Given the description of an element on the screen output the (x, y) to click on. 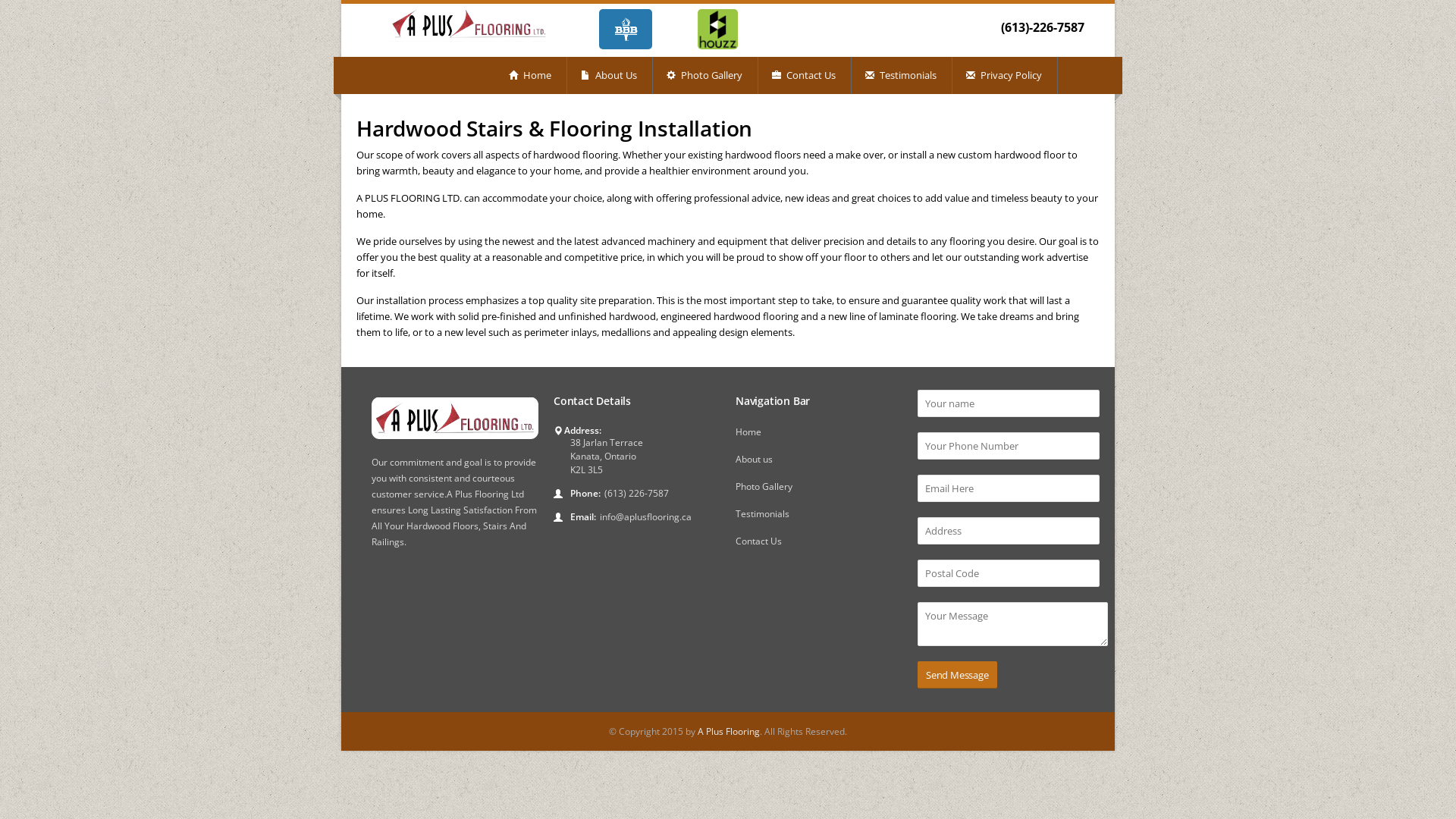
Testimonials Element type: text (901, 75)
About us Element type: text (753, 458)
Send Message Element type: text (957, 674)
Stairs Element type: text (495, 525)
Home Element type: text (748, 431)
Contact Us Element type: text (758, 540)
A Plus Flooring Element type: text (728, 730)
Privacy Policy Element type: text (1004, 75)
Photo Gallery Element type: text (763, 486)
Photo Gallery Element type: text (705, 75)
Home Element type: text (531, 75)
About Us Element type: text (609, 75)
Contact Us Element type: text (804, 75)
Testimonials Element type: text (762, 513)
